Given the description of an element on the screen output the (x, y) to click on. 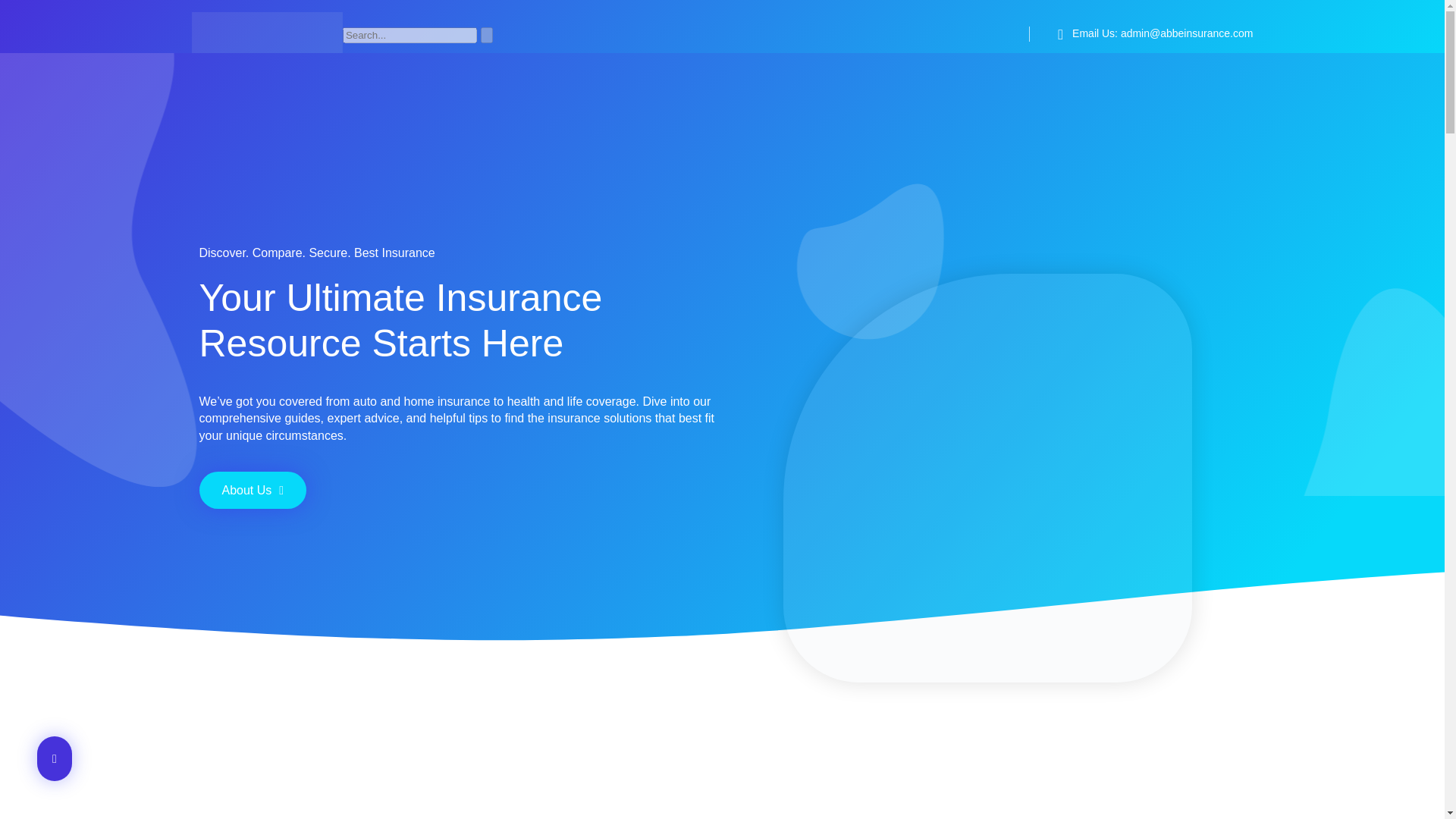
About Us (251, 489)
